Given the description of an element on the screen output the (x, y) to click on. 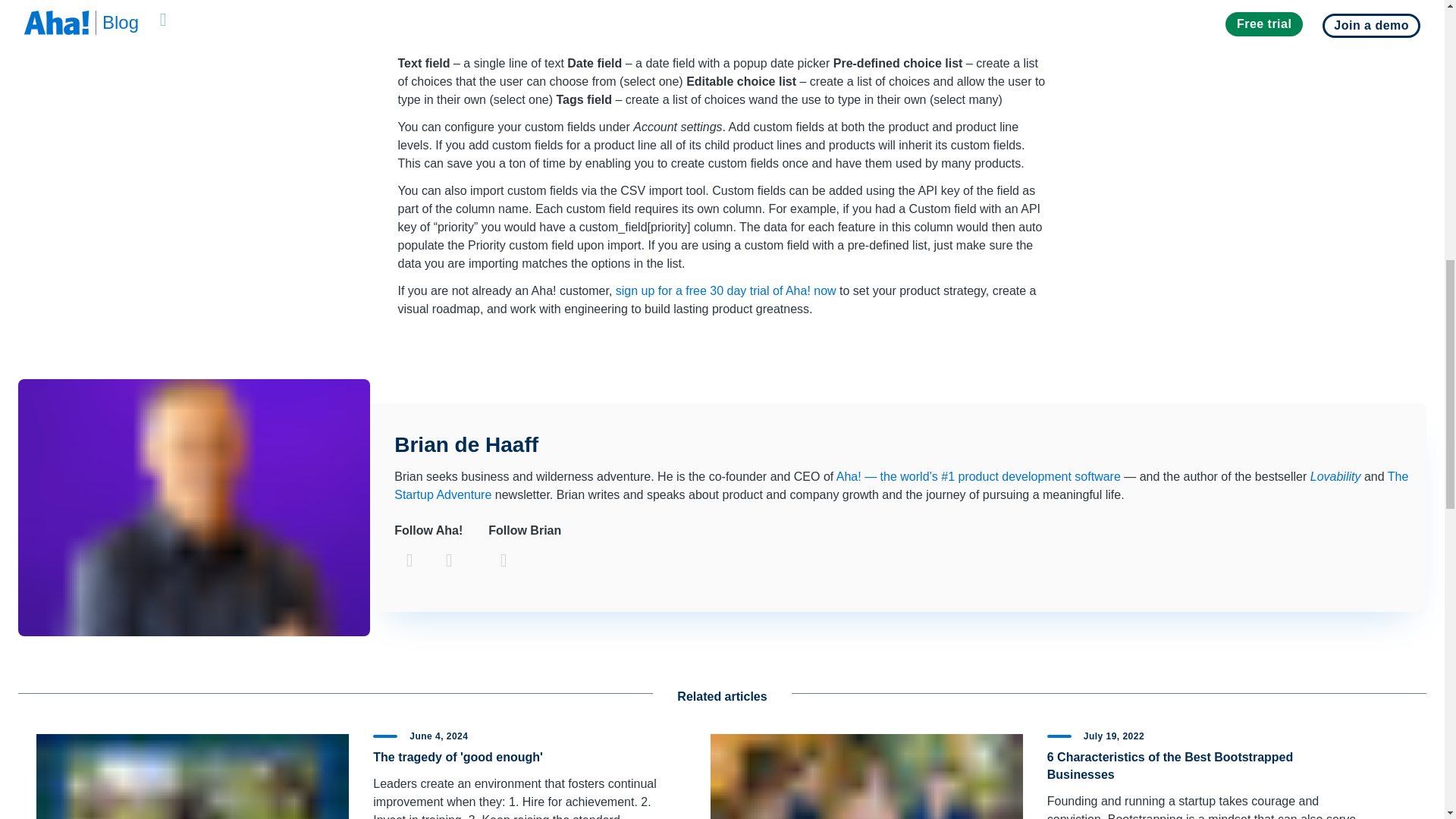
6 Characteristics of the Best Bootstrapped Businesses (1170, 766)
The Startup Adventure (900, 485)
sign up for a free 30 day trial of Aha! now (725, 290)
Lovability (1335, 476)
The tragedy of 'good enough' (457, 757)
